Given the description of an element on the screen output the (x, y) to click on. 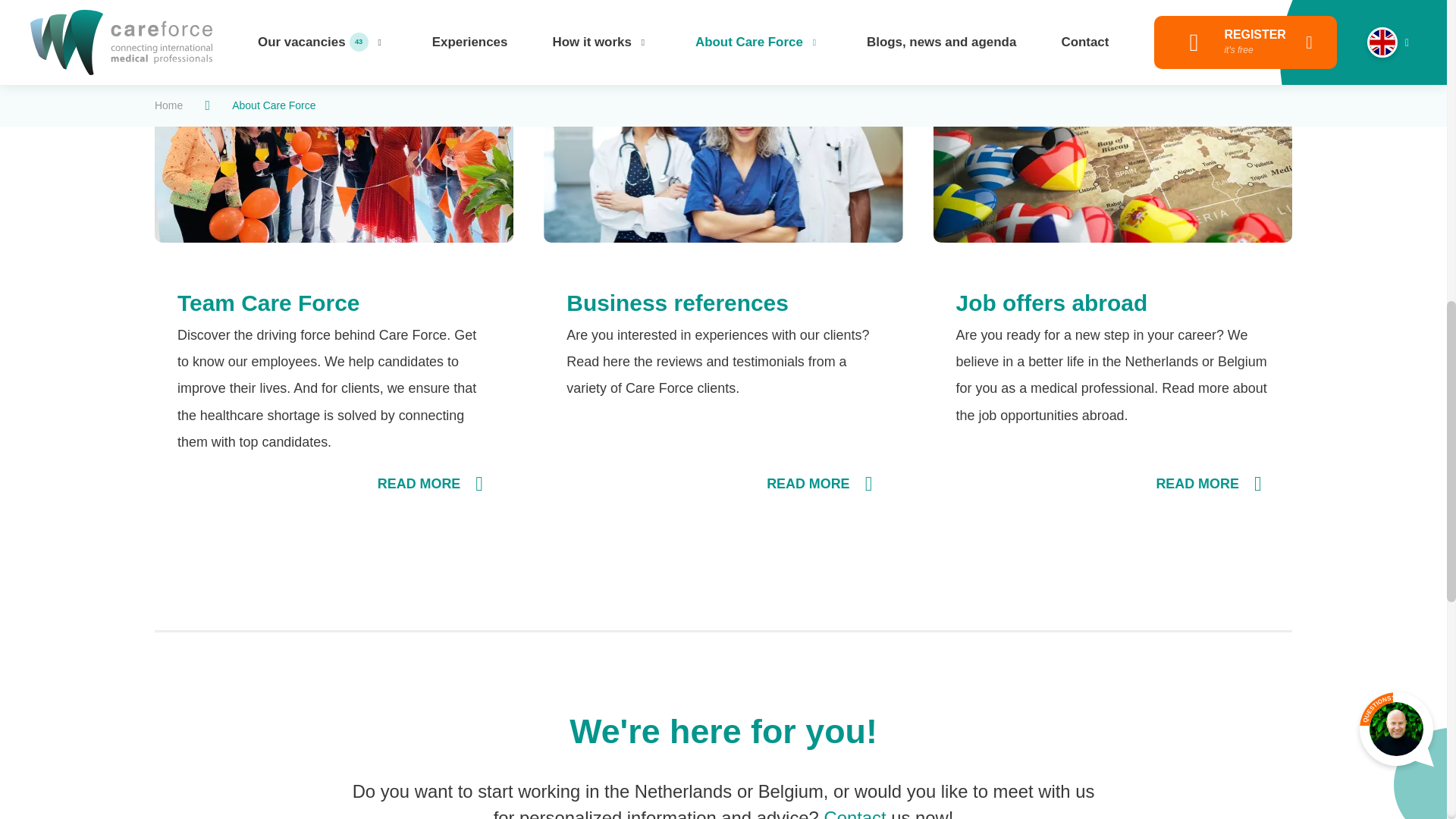
Contact (854, 813)
